Given the description of an element on the screen output the (x, y) to click on. 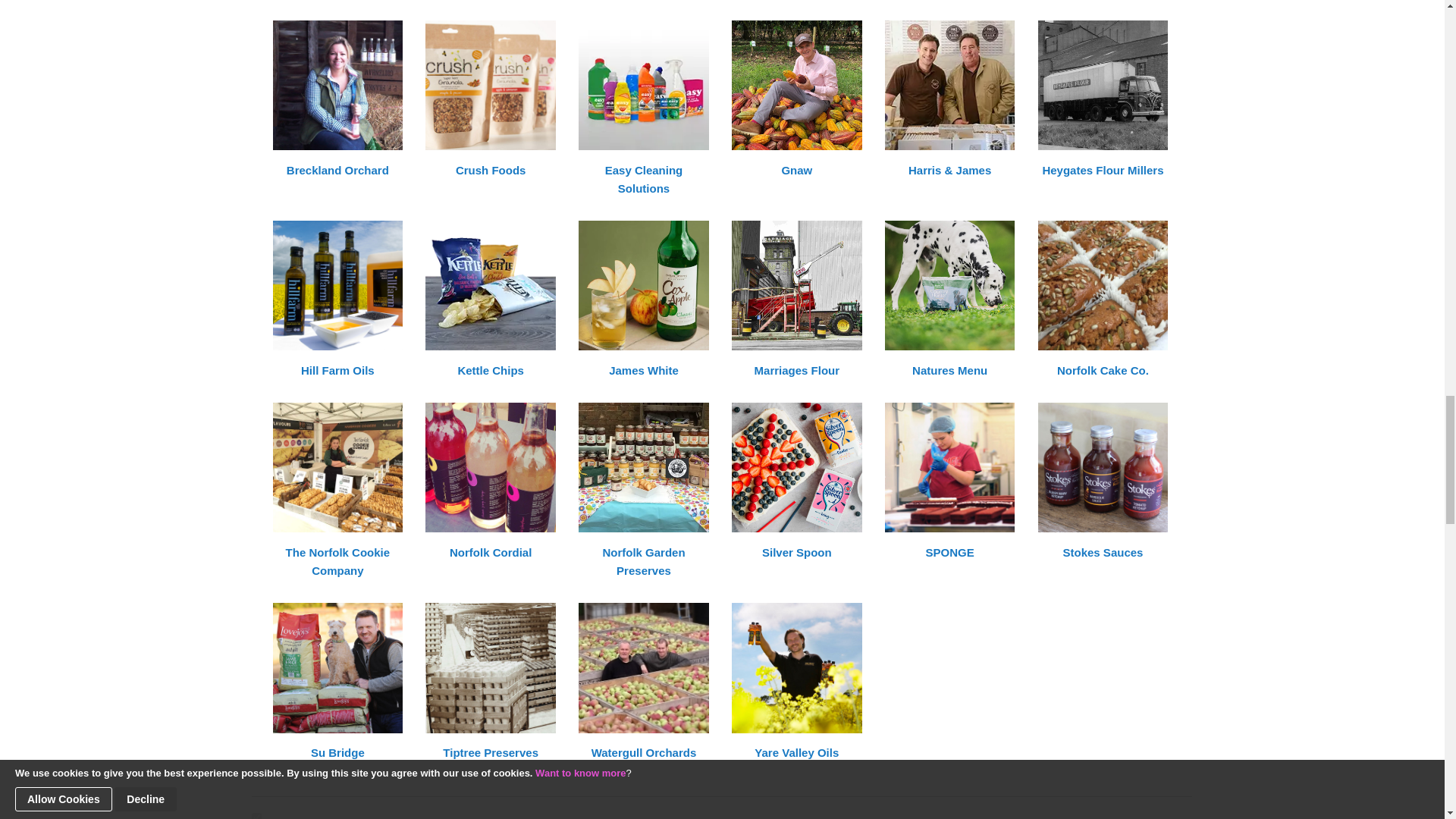
on (256, 816)
